Given the description of an element on the screen output the (x, y) to click on. 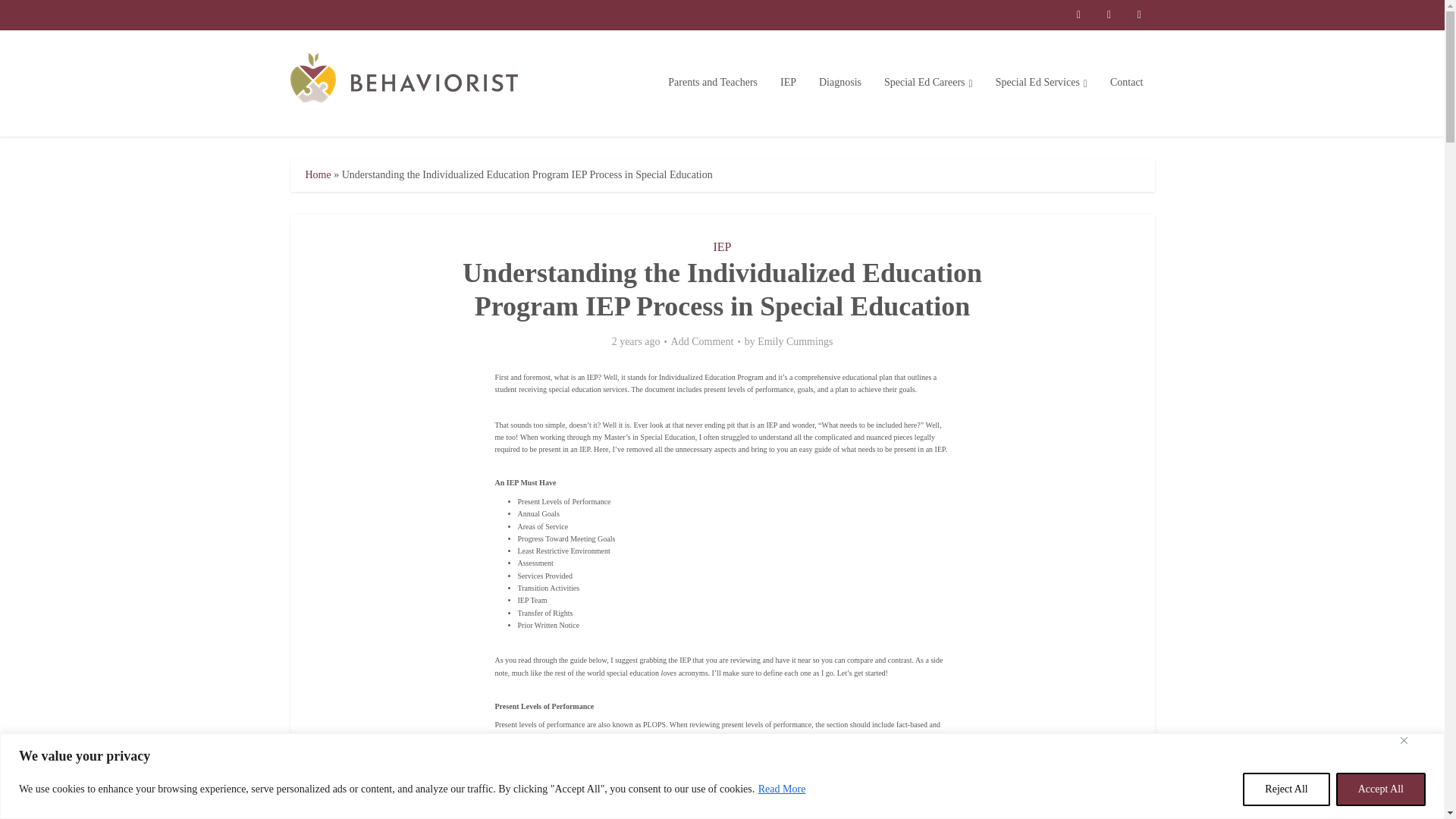
Parents and Teachers (712, 82)
Read More (781, 788)
Reject All (1286, 788)
Accept All (1380, 788)
Special Ed Careers (928, 82)
Special Ed Services (1041, 82)
